Given the description of an element on the screen output the (x, y) to click on. 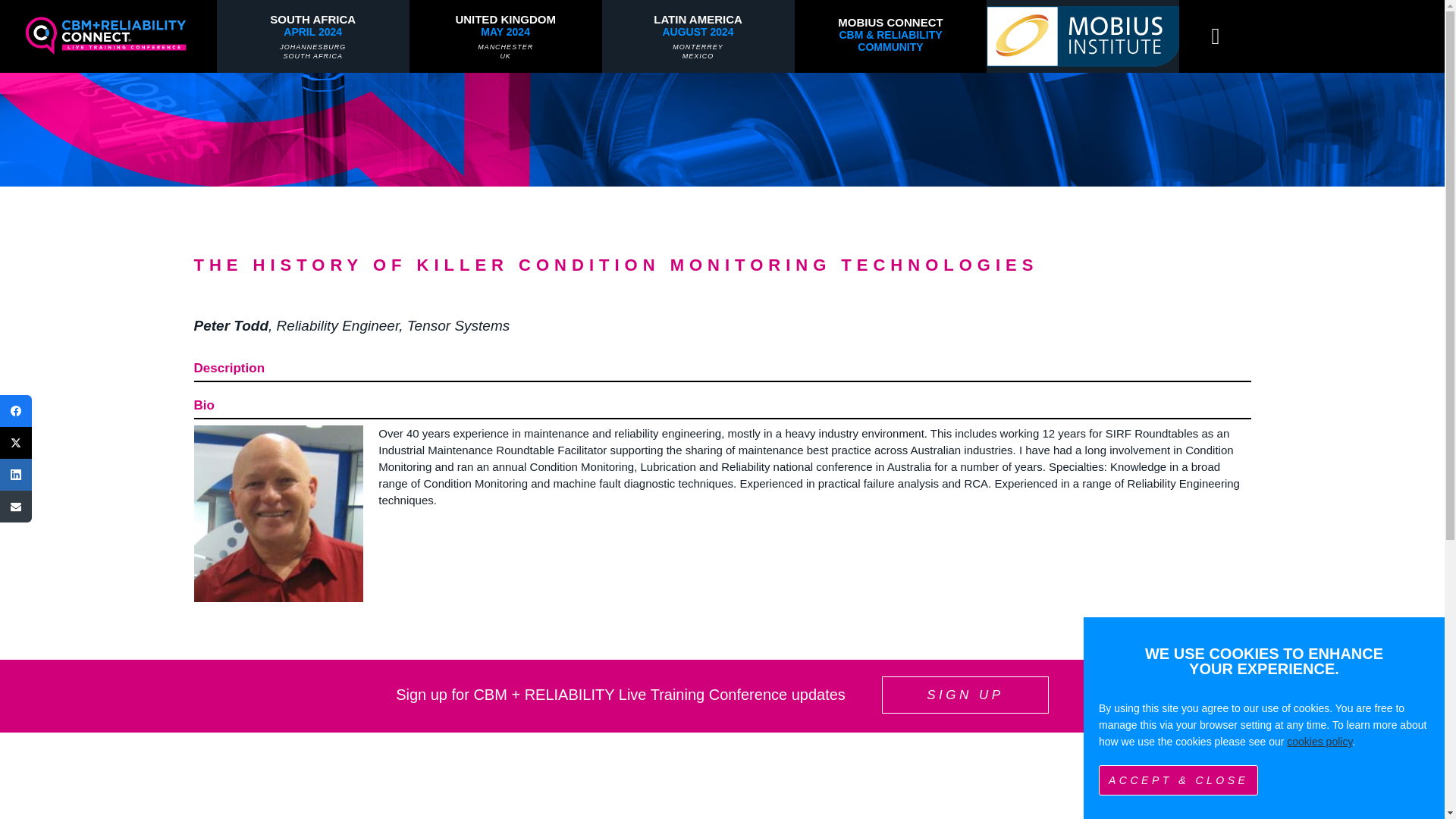
SIGN UP (312, 36)
MENU ITEM (965, 694)
cookies policy (108, 36)
